Given the description of an element on the screen output the (x, y) to click on. 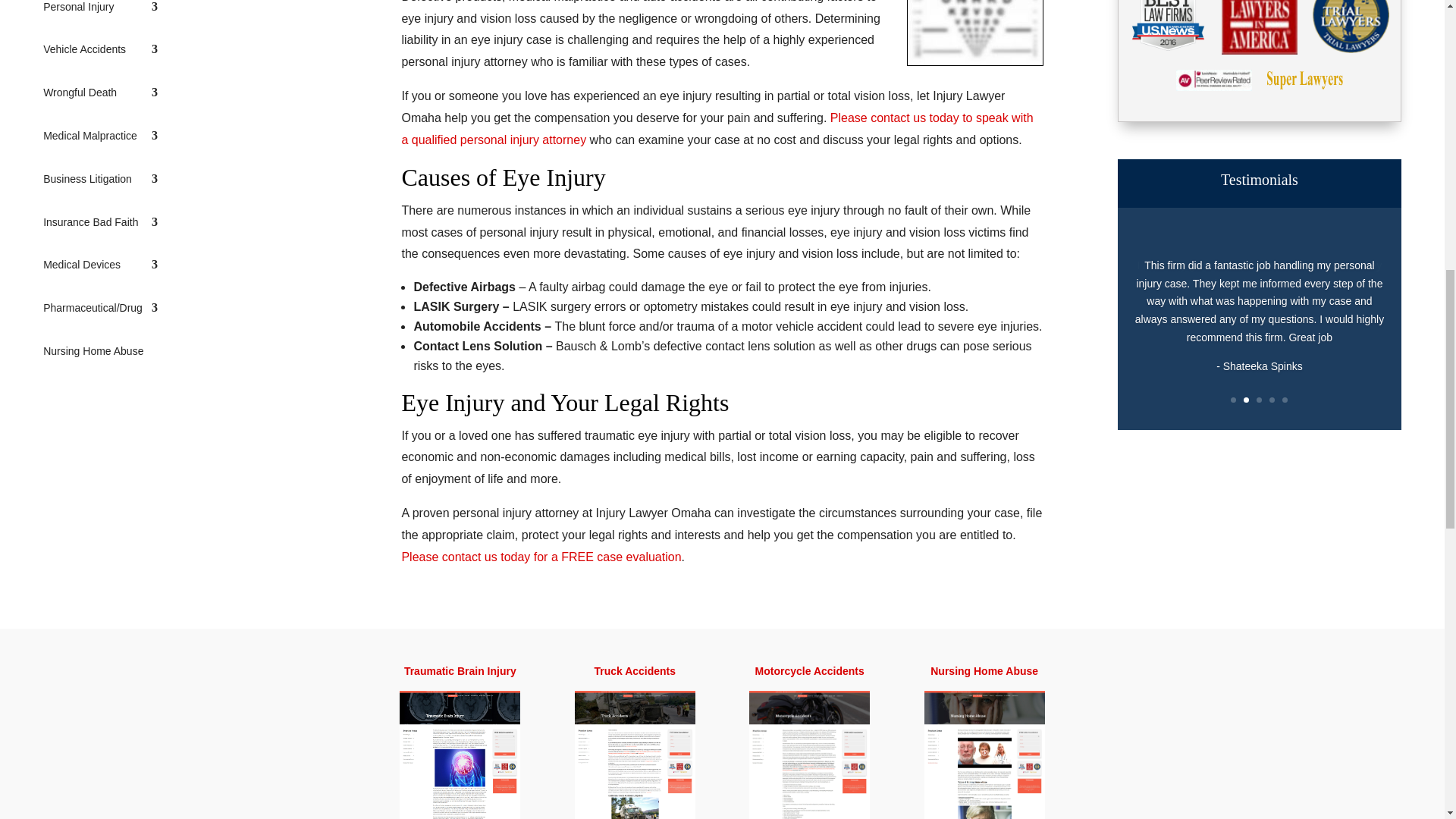
Vehicle Accidents (100, 52)
National-Trial-Lawyers (1351, 49)
Best-Lawyers-in-America (1259, 50)
Martindale-Hubbell-Peer-Review-Ratings (1214, 87)
best-law-firms-2016-logo (1167, 46)
Personal Injury (100, 9)
Super-Lawyers (1304, 85)
